Given the description of an element on the screen output the (x, y) to click on. 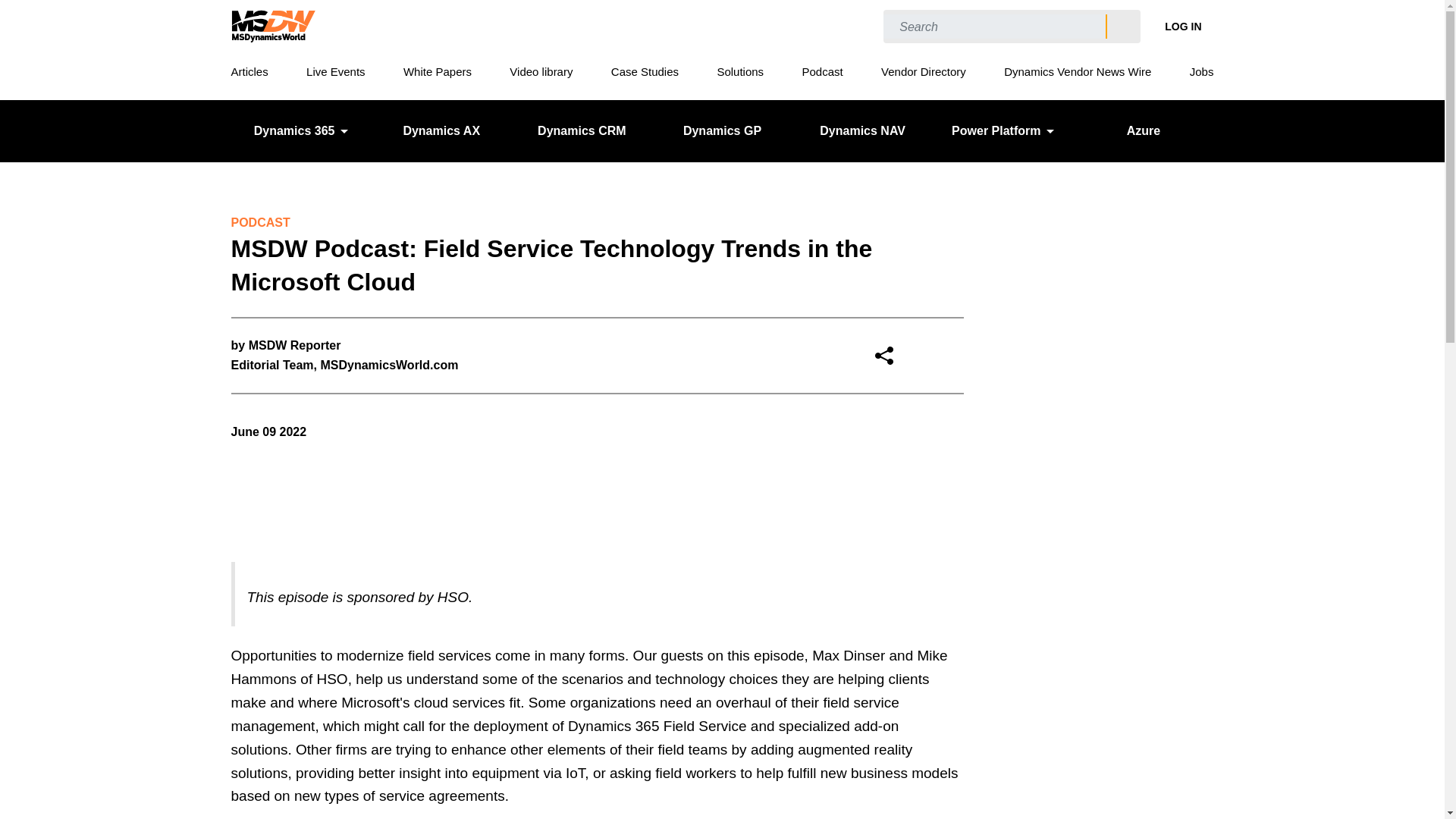
Dynamics Vendor News Wire (1077, 71)
Dynamics AX (441, 130)
Dynamics CRM (582, 130)
Search (1122, 27)
Embed Player (596, 489)
Dynamics 365 (300, 130)
Live Events (335, 71)
Vendor Directory (923, 71)
LOG IN (1182, 26)
Search (1122, 27)
